Given the description of an element on the screen output the (x, y) to click on. 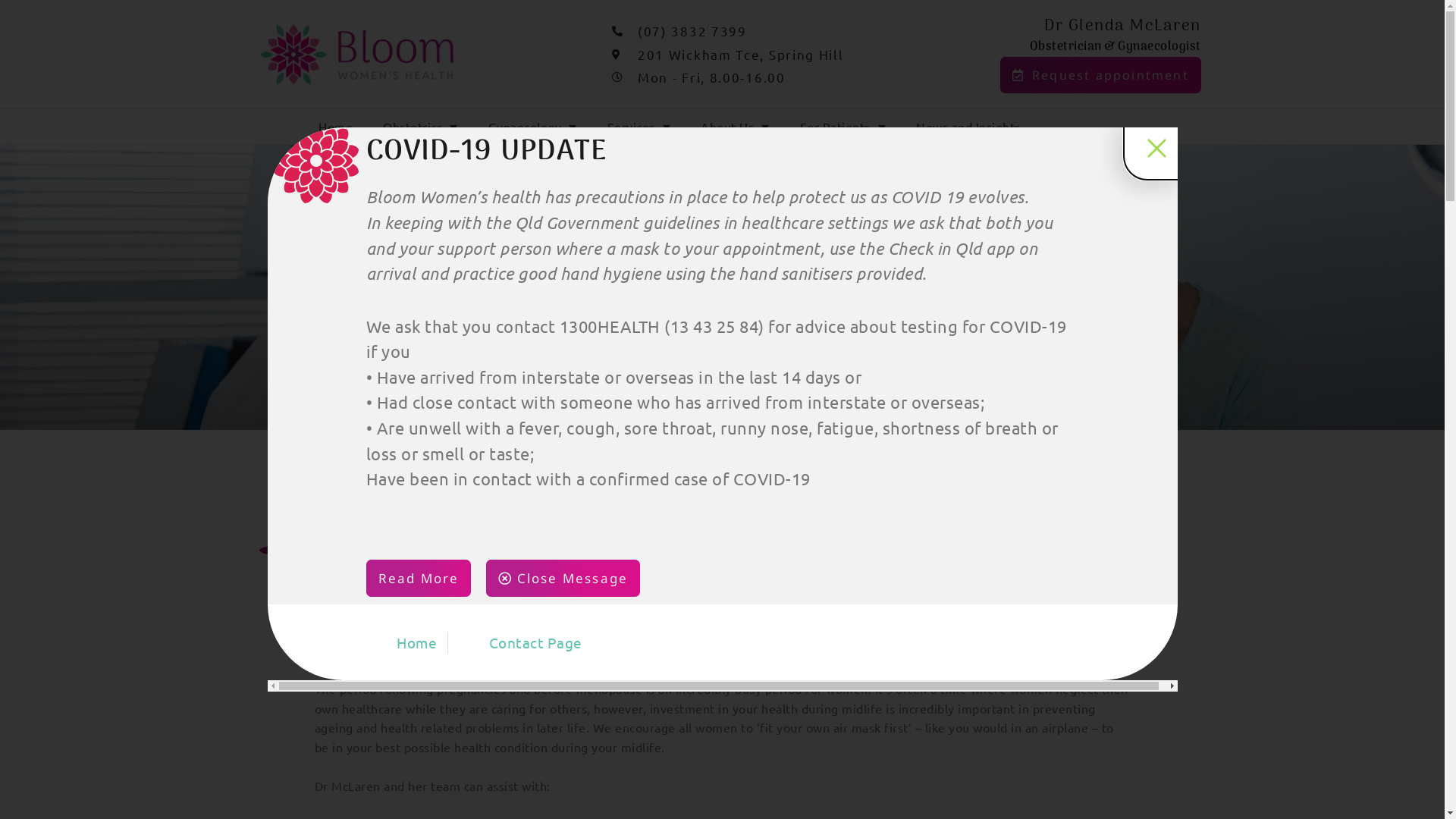
Obstetrics Element type: text (420, 126)
(07) 3832 7399 Element type: text (780, 30)
Home Element type: text (400, 642)
Home Element type: text (335, 126)
For Patients Element type: text (842, 126)
Request appointment Element type: text (1100, 74)
About Us Element type: text (734, 126)
Gynaecology Element type: text (532, 126)
News and Insights Element type: text (967, 126)
201 Wickham Tce, Spring Hill Element type: text (780, 54)
Services Element type: text (639, 126)
Close Message Element type: text (563, 577)
Contact Page Element type: text (520, 642)
Read More Element type: text (417, 577)
